Given the description of an element on the screen output the (x, y) to click on. 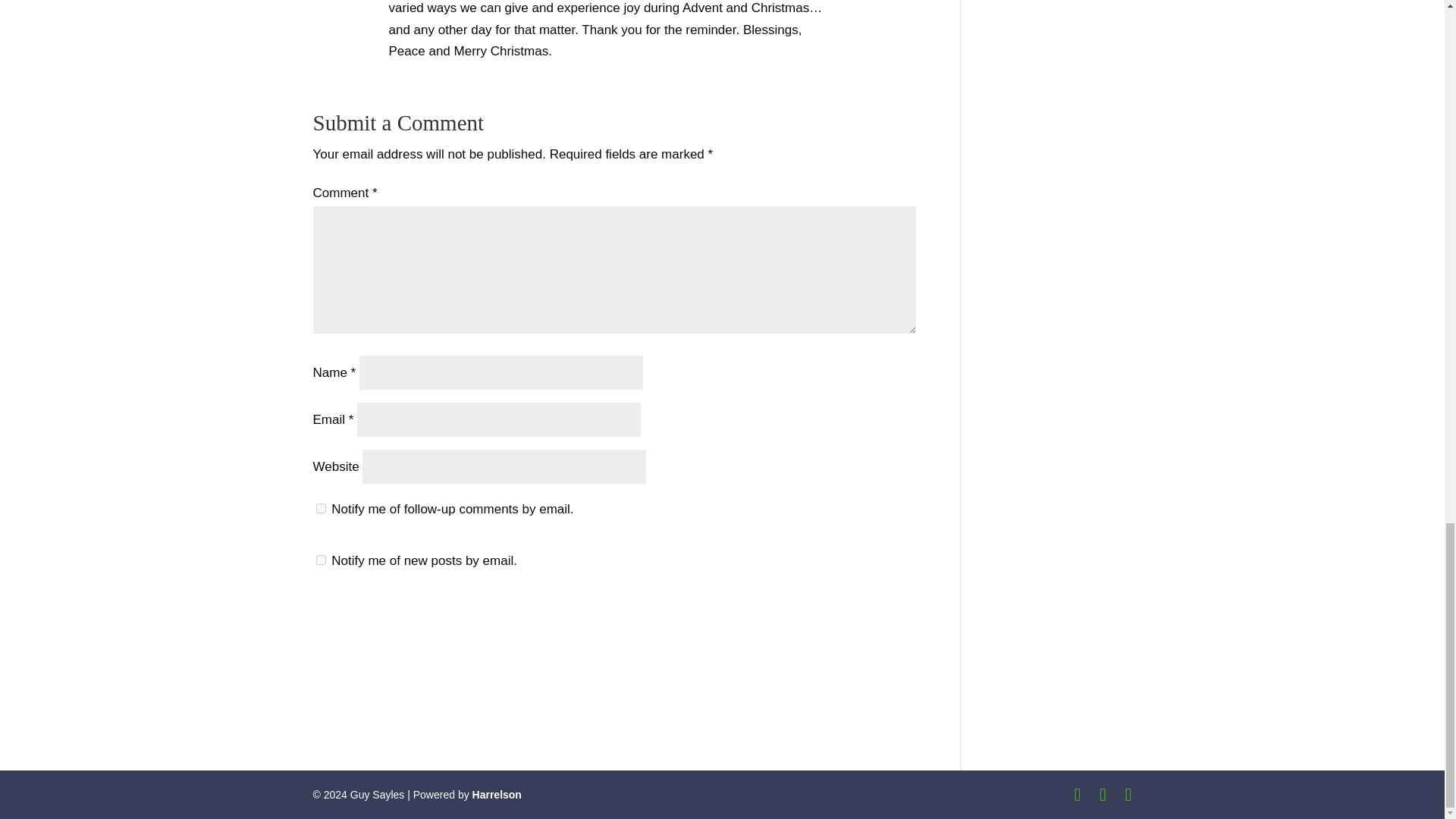
Harrelson (496, 794)
subscribe (319, 508)
Submit Comment (840, 618)
subscribe (319, 560)
Submit Comment (840, 618)
